Given the description of an element on the screen output the (x, y) to click on. 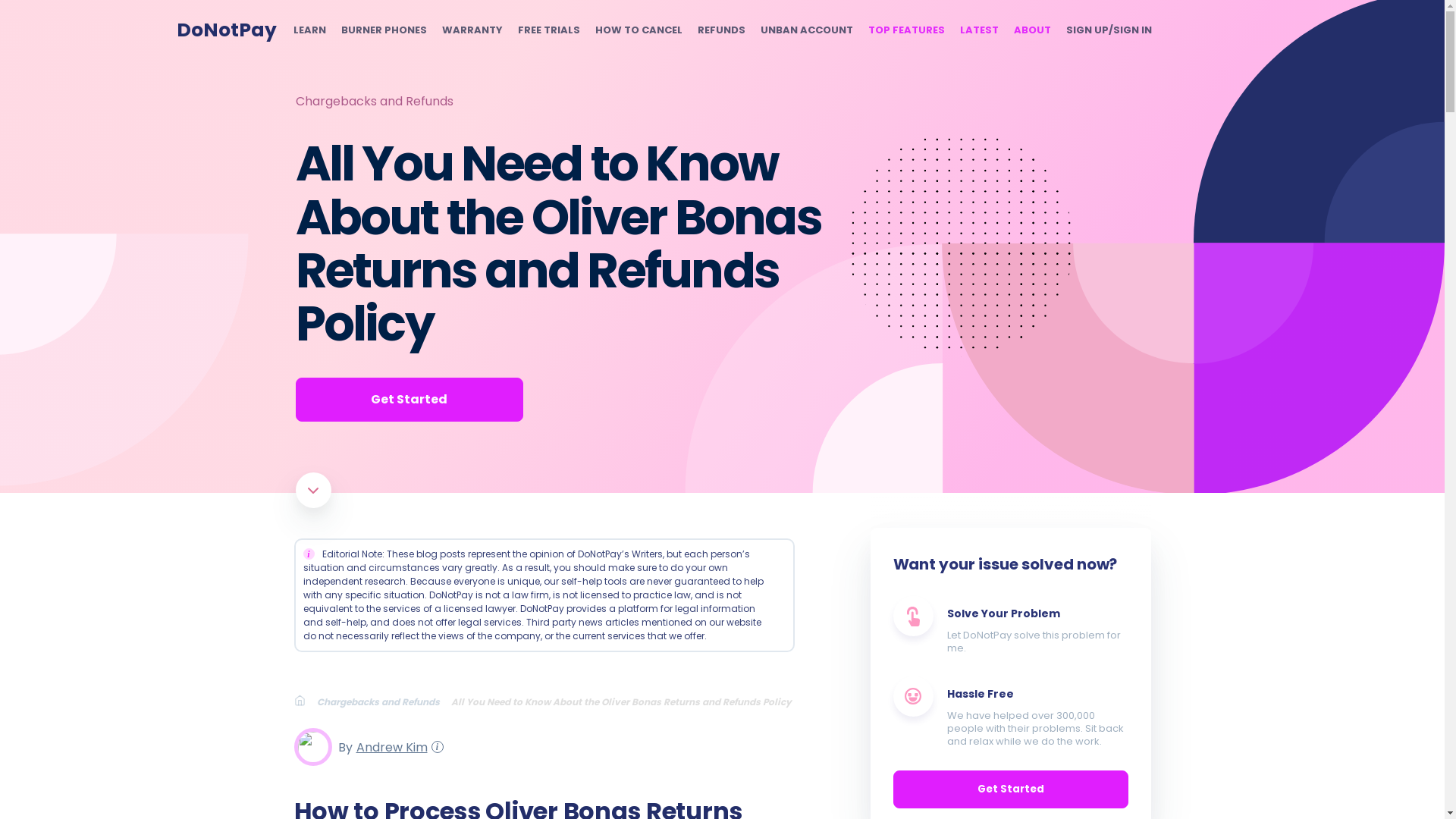
REFUNDS (721, 29)
DoNotPay (226, 29)
Get Started (408, 399)
TOP FEATURES (905, 29)
ABOUT (1031, 29)
BURNER PHONES (383, 29)
WARRANTY (471, 29)
FREE TRIALS (547, 29)
HOW TO CANCEL (637, 29)
UNBAN ACCOUNT (805, 29)
